Given the description of an element on the screen output the (x, y) to click on. 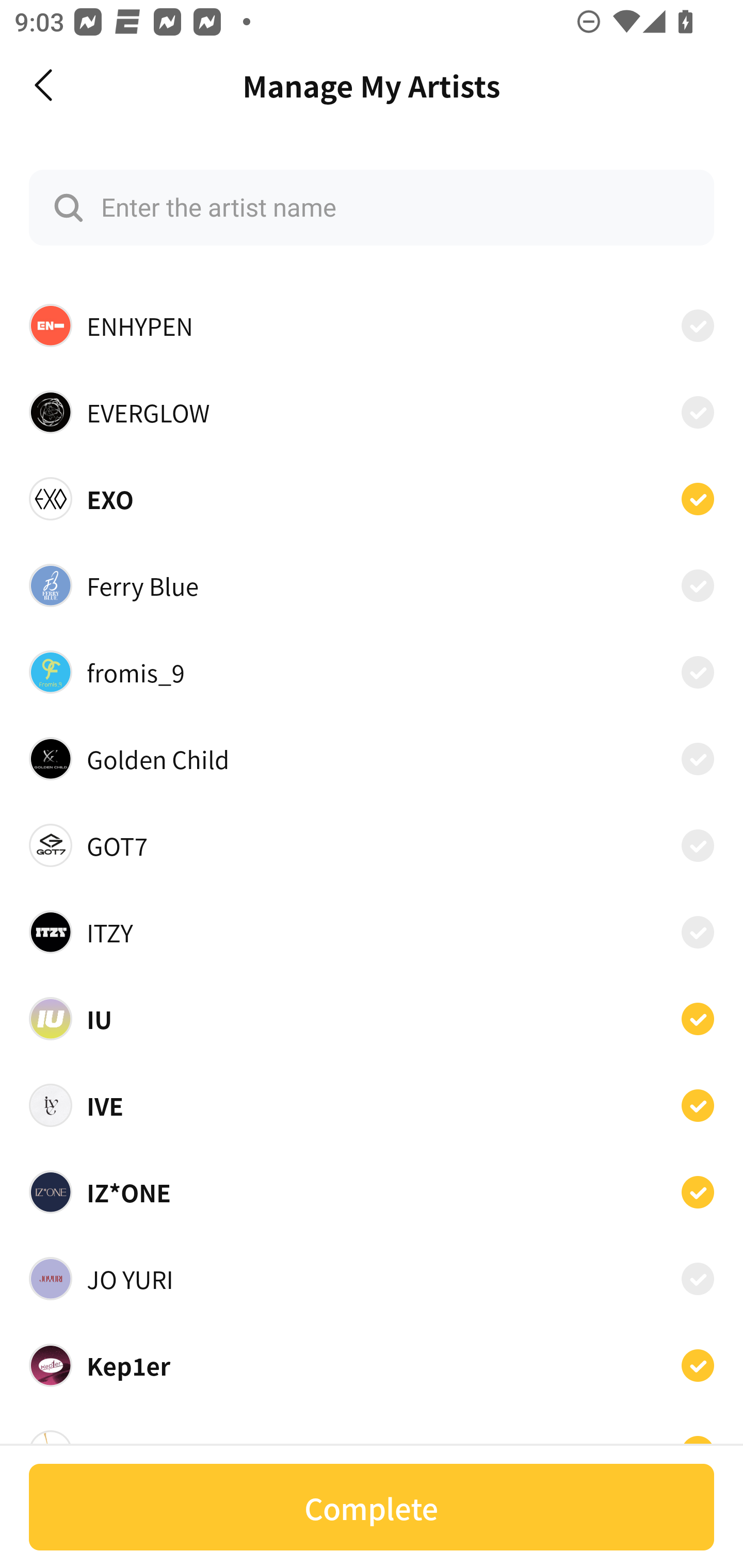
Enter the artist name (371, 207)
ENHYPEN (371, 325)
EVERGLOW (371, 412)
EXO (371, 498)
Ferry Blue (371, 585)
fromis_9 (371, 671)
Golden Child (371, 758)
GOT7 (371, 845)
ITZY (371, 932)
IU (371, 1018)
IVE (371, 1105)
IZ*ONE (371, 1191)
JO YURI (371, 1278)
Kep1er (371, 1365)
Complete (371, 1507)
